Given the description of an element on the screen output the (x, y) to click on. 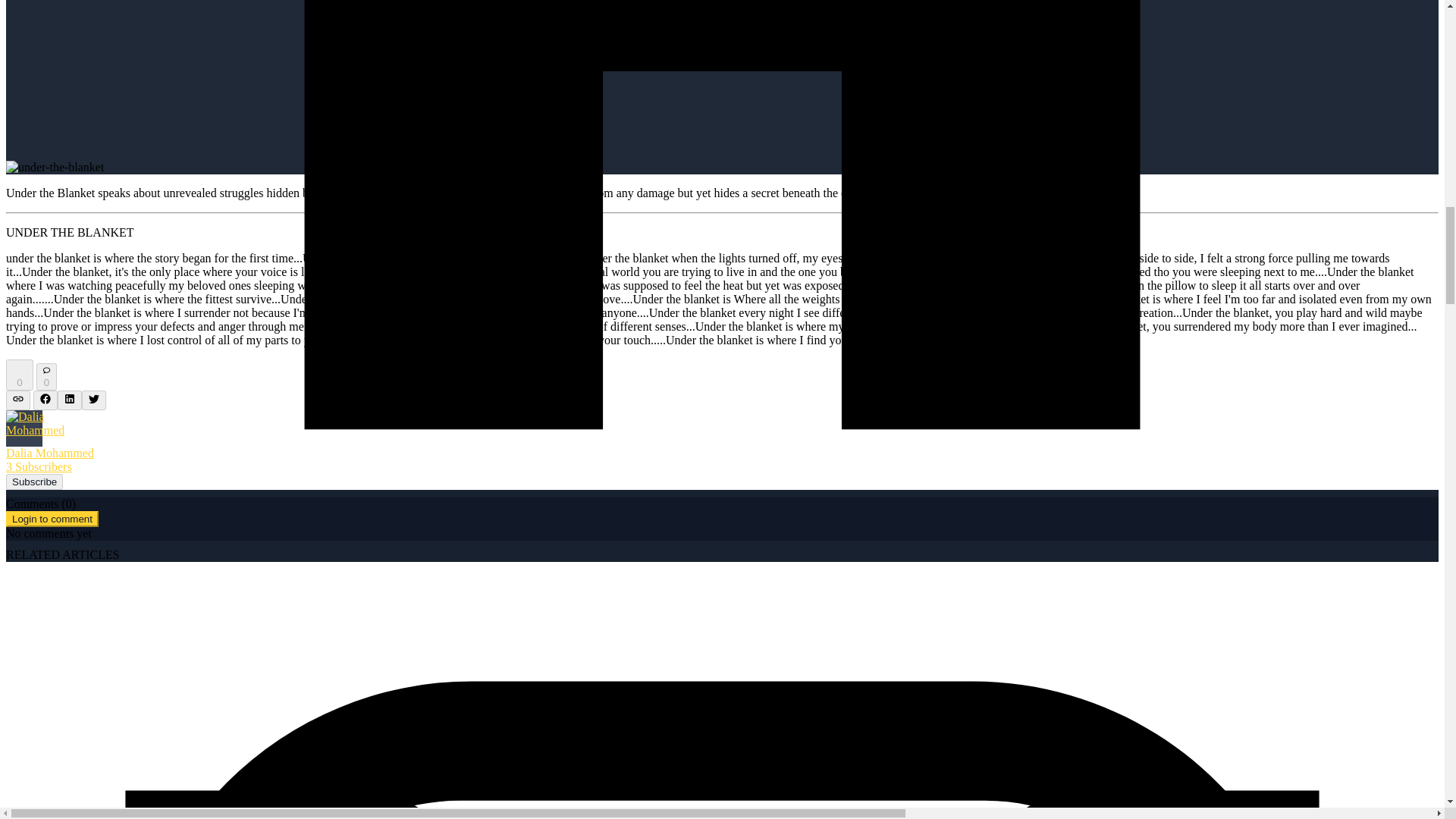
Share on Twitter (93, 400)
home (721, 442)
Login to comment (45, 400)
Share on LinkedIn (52, 519)
Subscribe (69, 400)
Copy Link (33, 481)
